Given the description of an element on the screen output the (x, y) to click on. 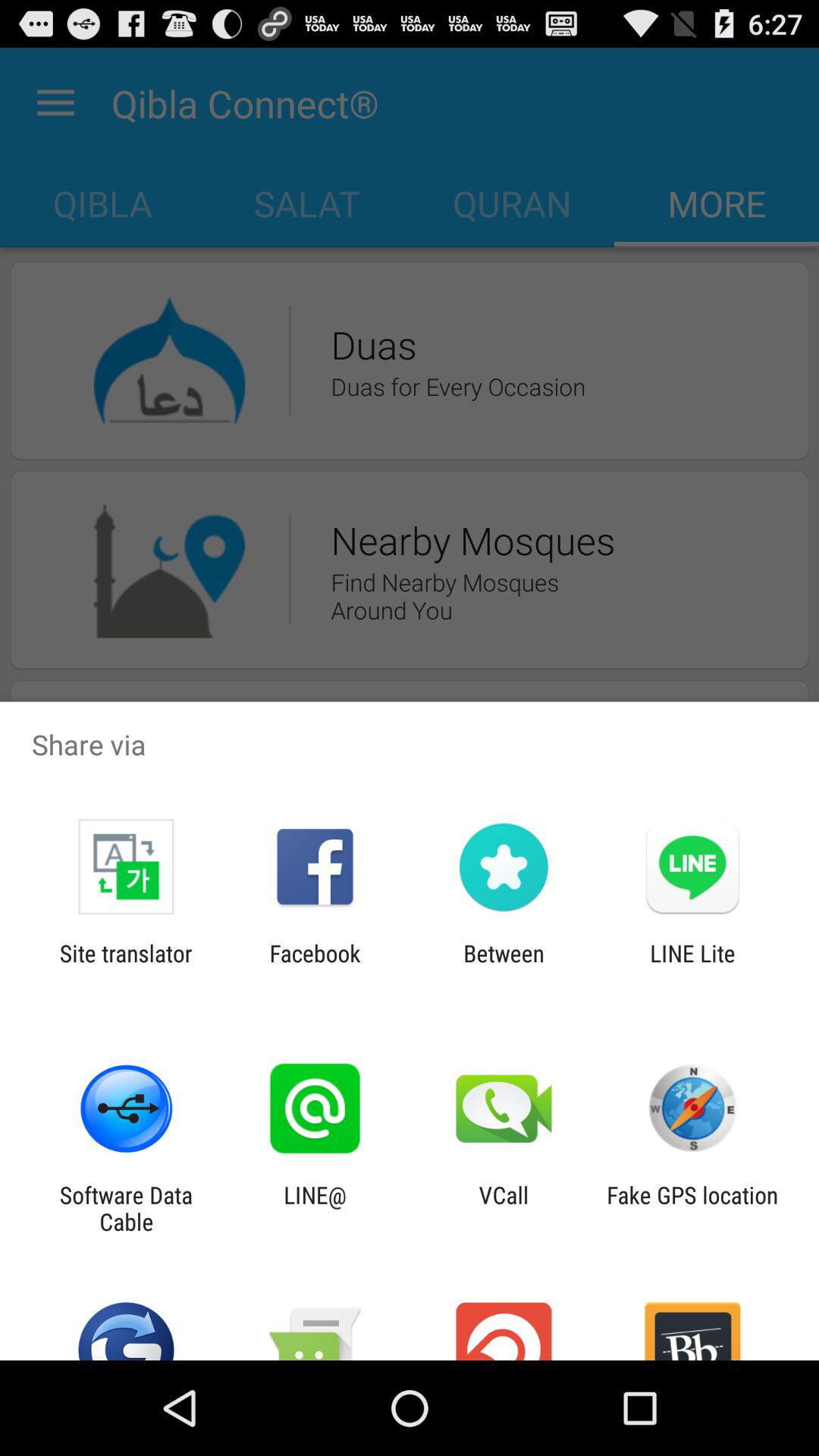
open the icon to the right of between (692, 966)
